Given the description of an element on the screen output the (x, y) to click on. 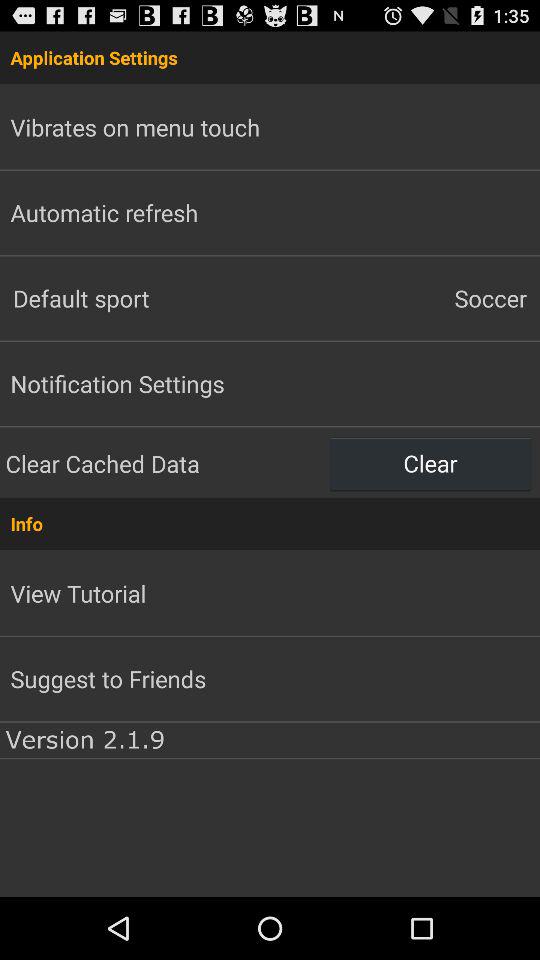
tap the clear cached data (165, 463)
